Given the description of an element on the screen output the (x, y) to click on. 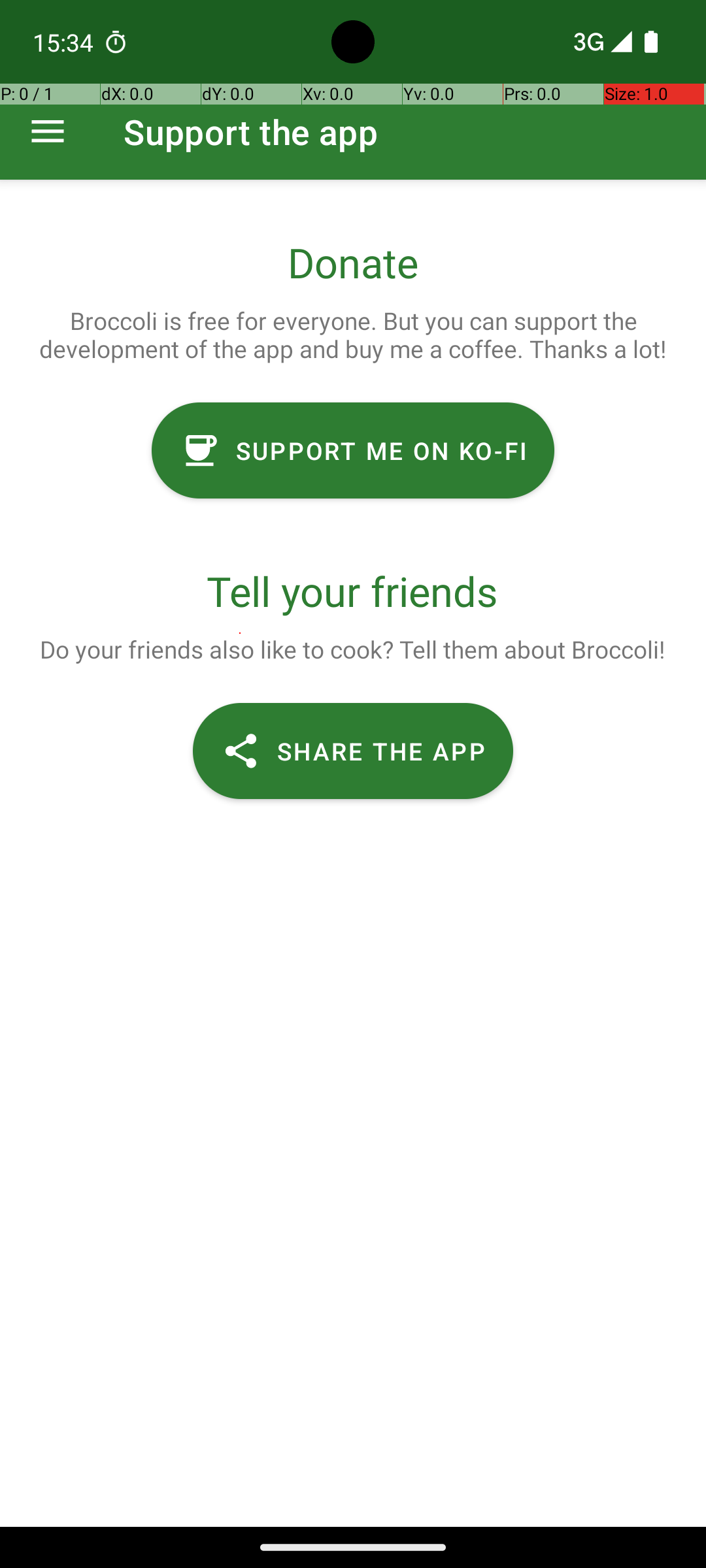
Broccoli is free for everyone. But you can support the development of the app and buy me a coffee. Thanks a lot! Element type: android.widget.TextView (352, 334)
SUPPORT ME ON KO-FI Element type: android.widget.Button (352, 450)
Tell your friends Element type: android.widget.TextView (352, 590)
Do your friends also like to cook? Tell them about Broccoli! Element type: android.widget.TextView (352, 648)
SHARE THE APP Element type: android.widget.Button (352, 750)
